Given the description of an element on the screen output the (x, y) to click on. 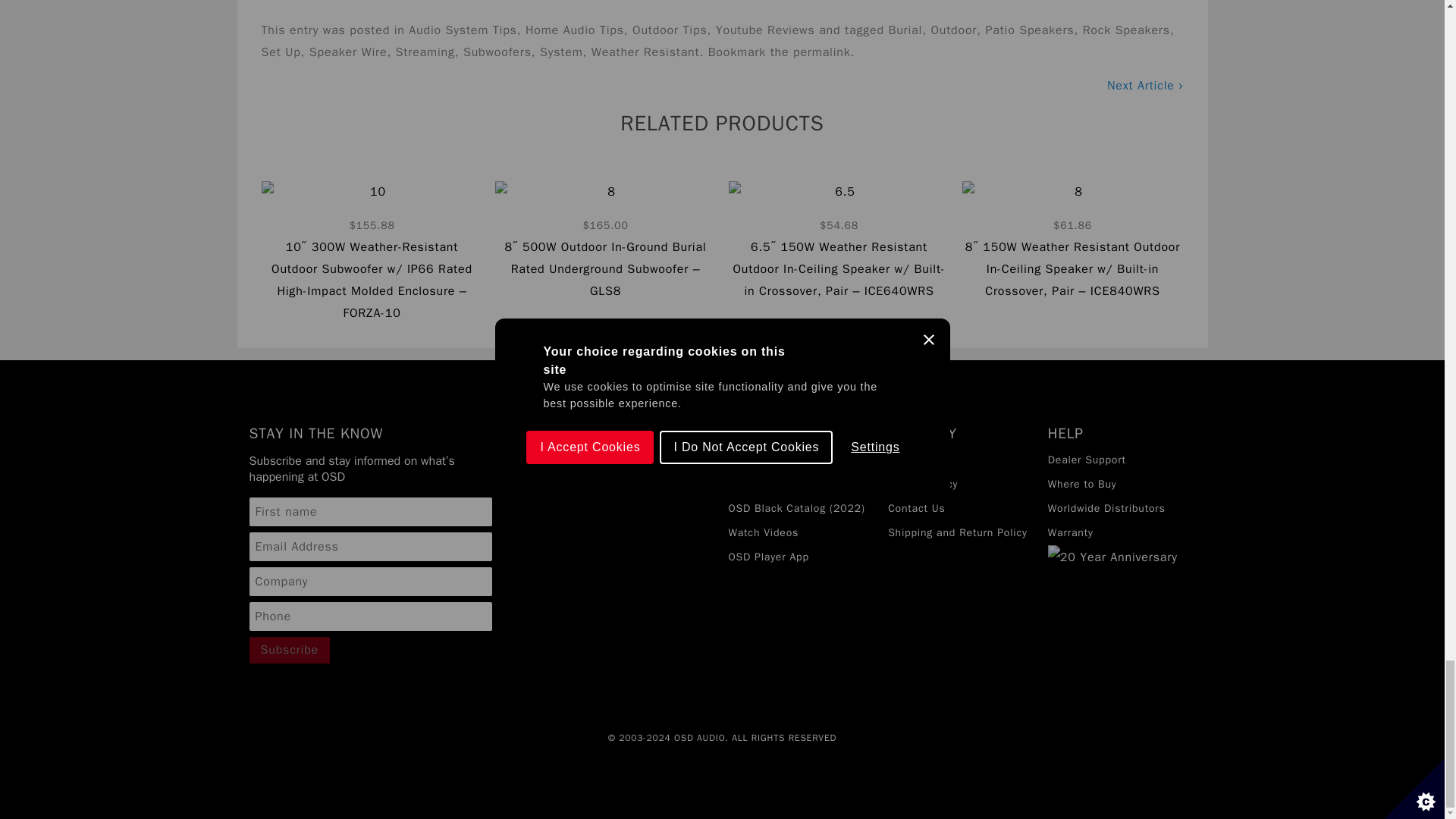
10 (370, 252)
Subscribe (289, 650)
8 (605, 241)
